Given the description of an element on the screen output the (x, y) to click on. 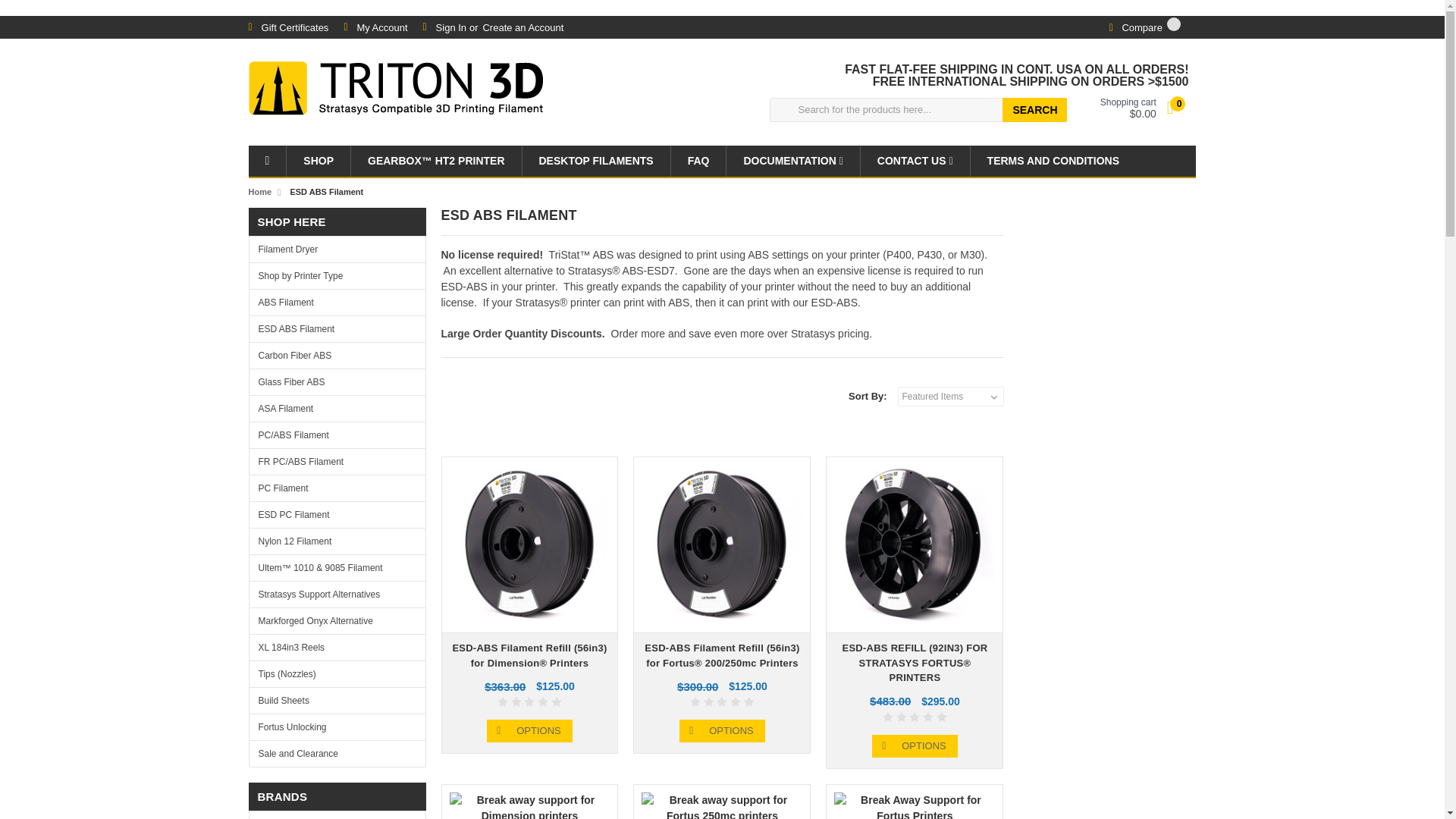
Triton3D (395, 91)
ESD-Safe ABS for Fortus 200mc and 250mc Printers (722, 544)
Search (1035, 109)
ESD-Safe ABS for Dimension Printers (529, 544)
ESD-ABS for your Fortus Printer (914, 544)
Search (1035, 109)
